Given the description of an element on the screen output the (x, y) to click on. 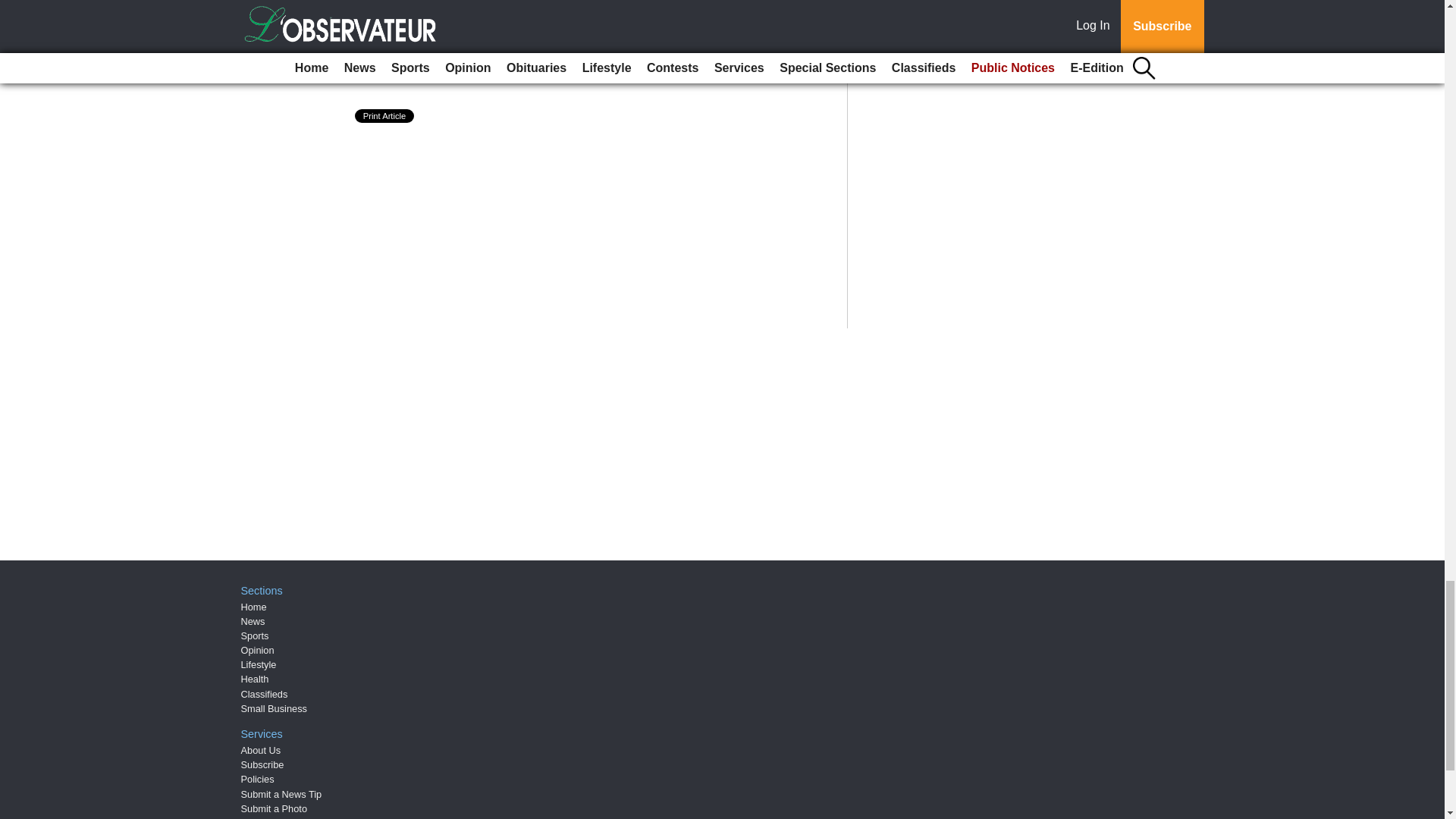
Print Article (384, 115)
St. Charles deputy wins MADD award (487, 5)
St. Charles deputy wins MADD award (487, 5)
